Given the description of an element on the screen output the (x, y) to click on. 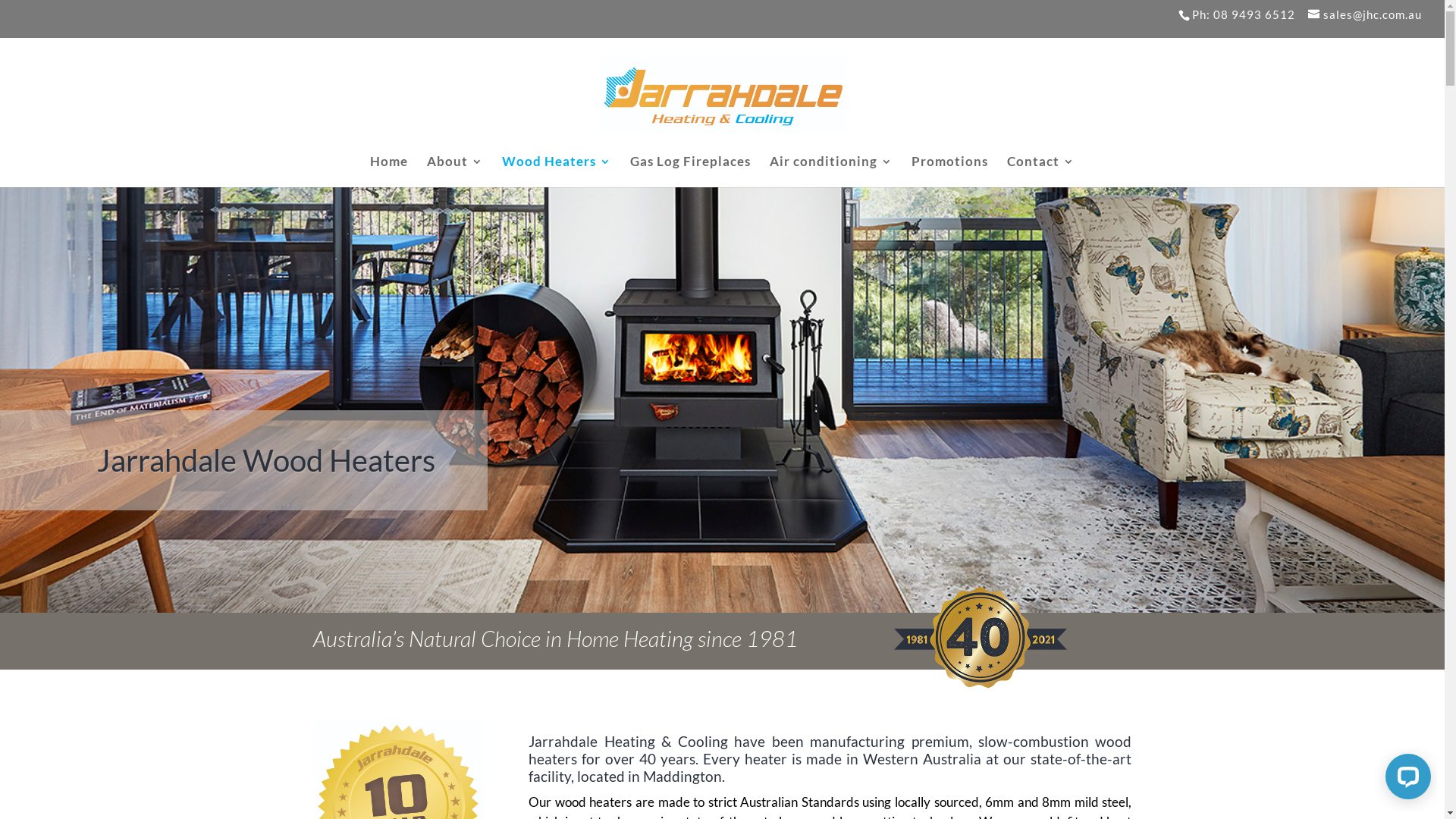
sales@jhc.com.au Element type: text (1364, 14)
Home Element type: text (388, 171)
Air conditioning Element type: text (830, 171)
Promotions Element type: text (949, 171)
Gas Log Fireplaces Element type: text (690, 171)
About Element type: text (454, 171)
JHC-40-year-logo Element type: hover (979, 637)
LiveChat chat widget Element type: hover (1405, 779)
Contact Element type: text (1040, 171)
Wood Heaters Element type: text (556, 171)
